Given the description of an element on the screen output the (x, y) to click on. 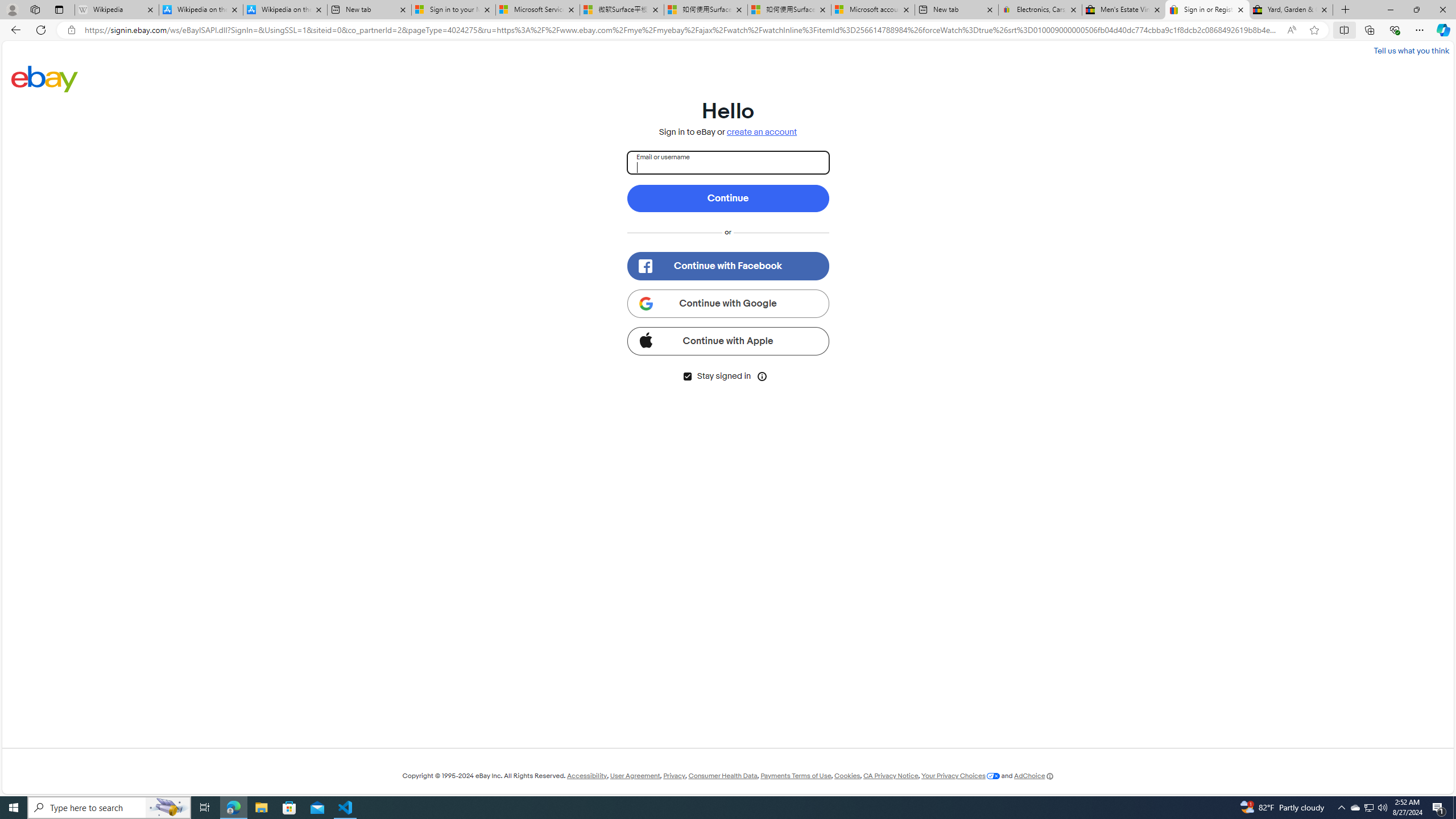
Class: icon-btn tooltip__host icon-btn--transparent (762, 375)
Electronics, Cars, Fashion, Collectibles & More | eBay (1039, 9)
CA Privacy Notice (890, 775)
eBay Home (44, 78)
AdChoice (1033, 775)
Email or username (727, 162)
Continue (727, 198)
Microsoft Services Agreement (537, 9)
